Given the description of an element on the screen output the (x, y) to click on. 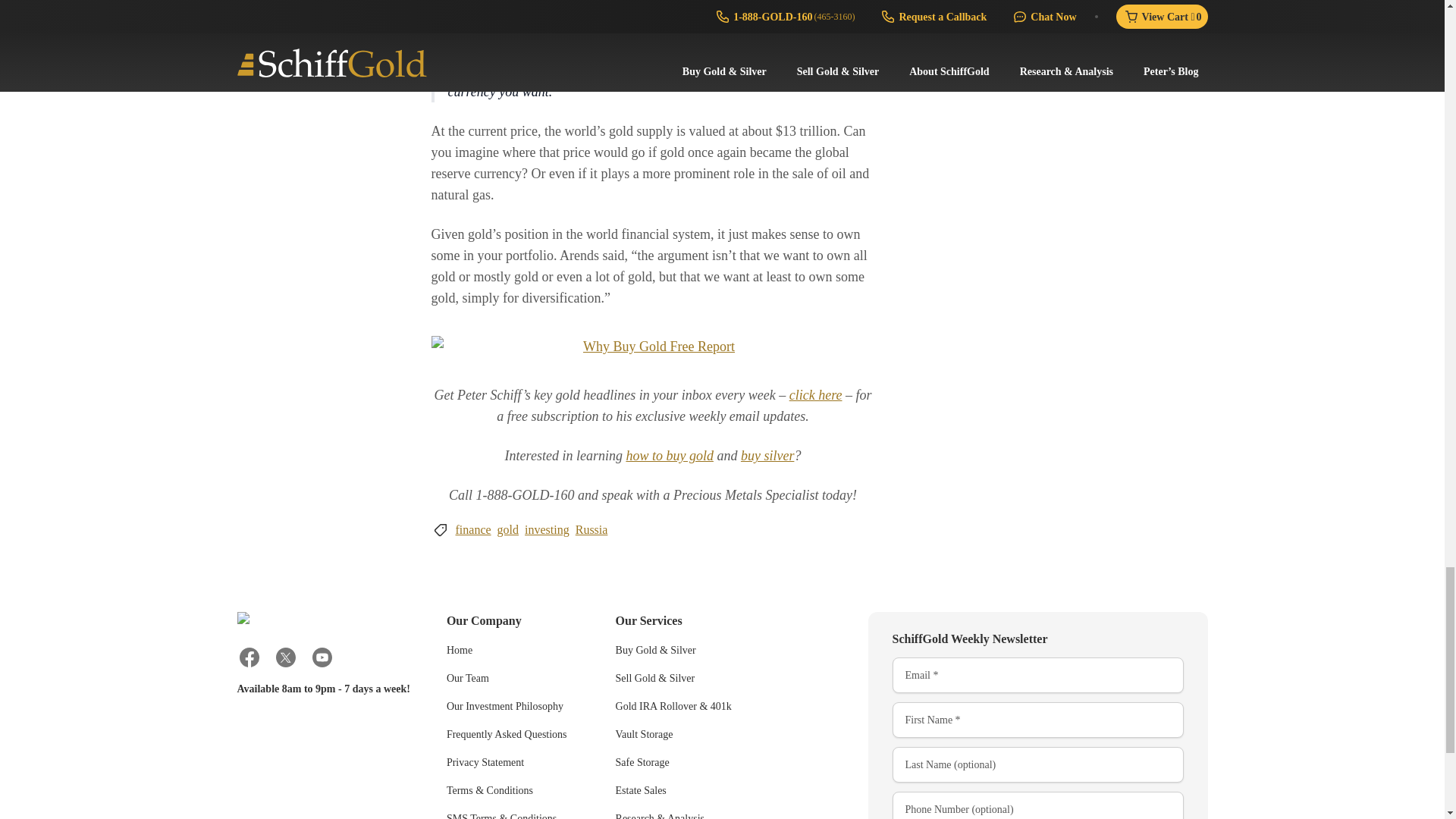
how to buy gold (669, 455)
buy silver (767, 455)
finance (472, 529)
click here (816, 394)
